Given the description of an element on the screen output the (x, y) to click on. 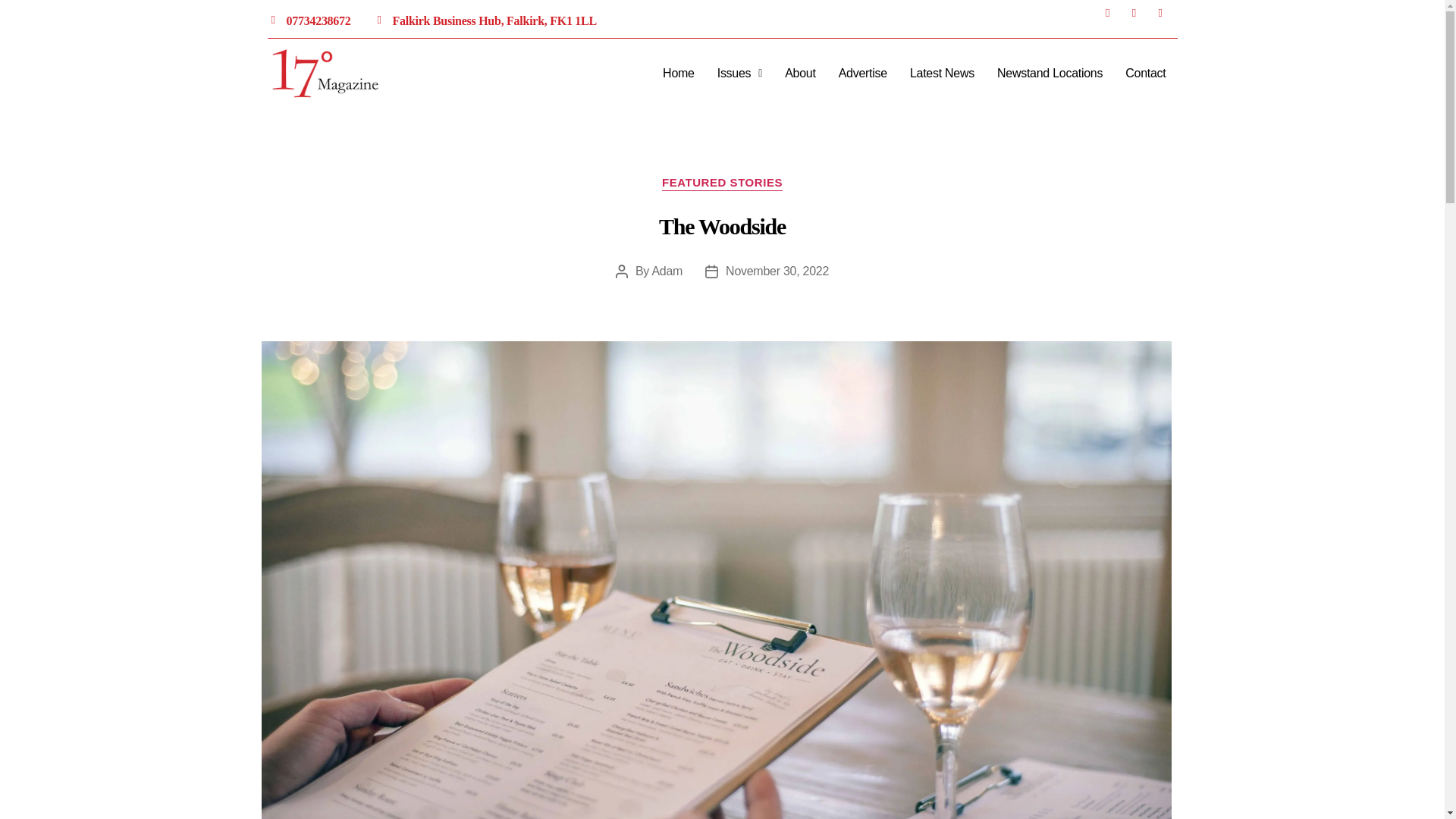
Advertise (862, 73)
Newstand Locations (1049, 73)
Home (678, 73)
About (800, 73)
Contact (1144, 73)
Adam (666, 270)
Latest News (941, 73)
November 30, 2022 (776, 270)
FEATURED STORIES (722, 183)
Issues (739, 73)
